Given the description of an element on the screen output the (x, y) to click on. 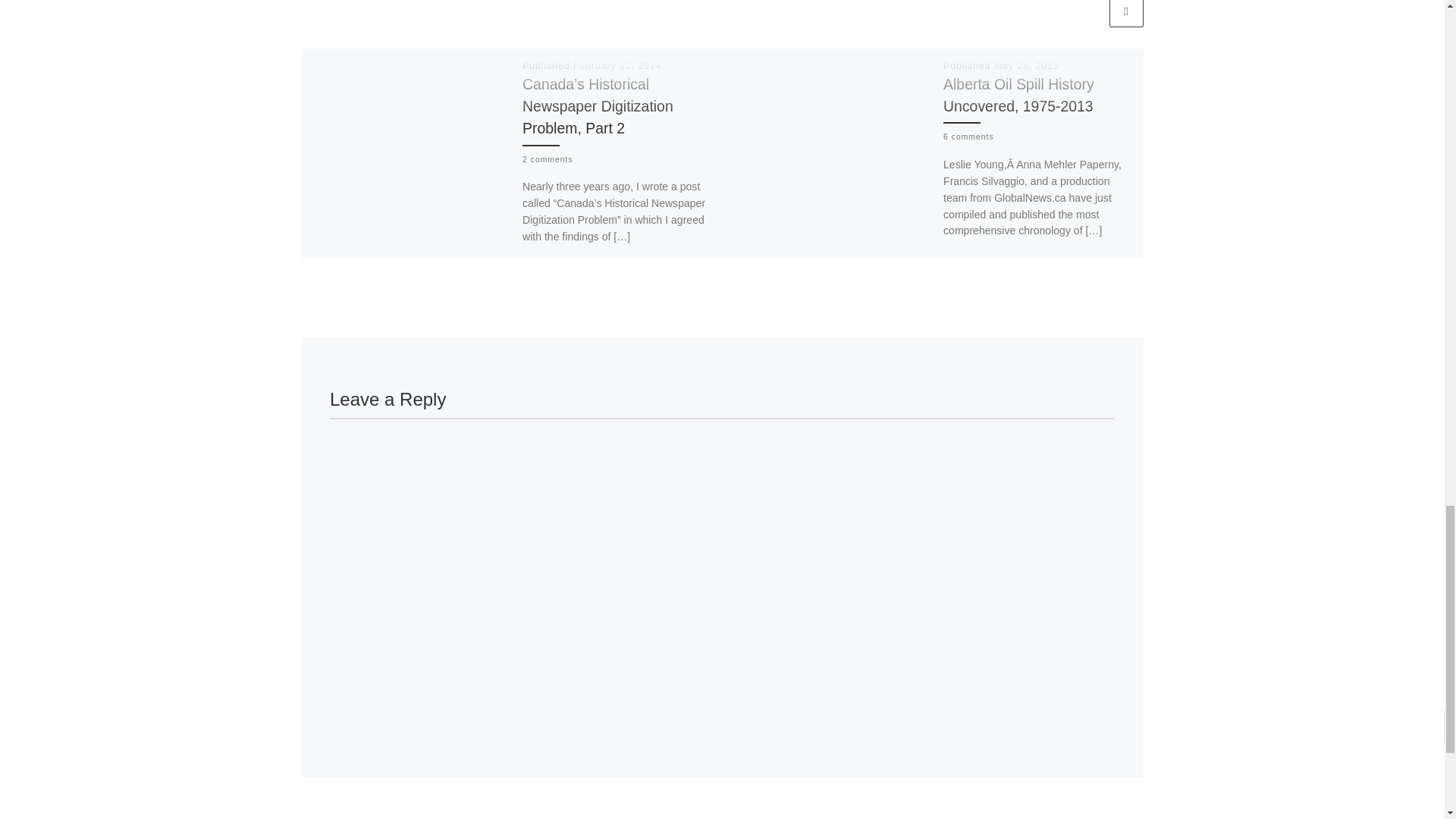
Previous related articles (1088, 13)
Next related articles (1125, 13)
